Given the description of an element on the screen output the (x, y) to click on. 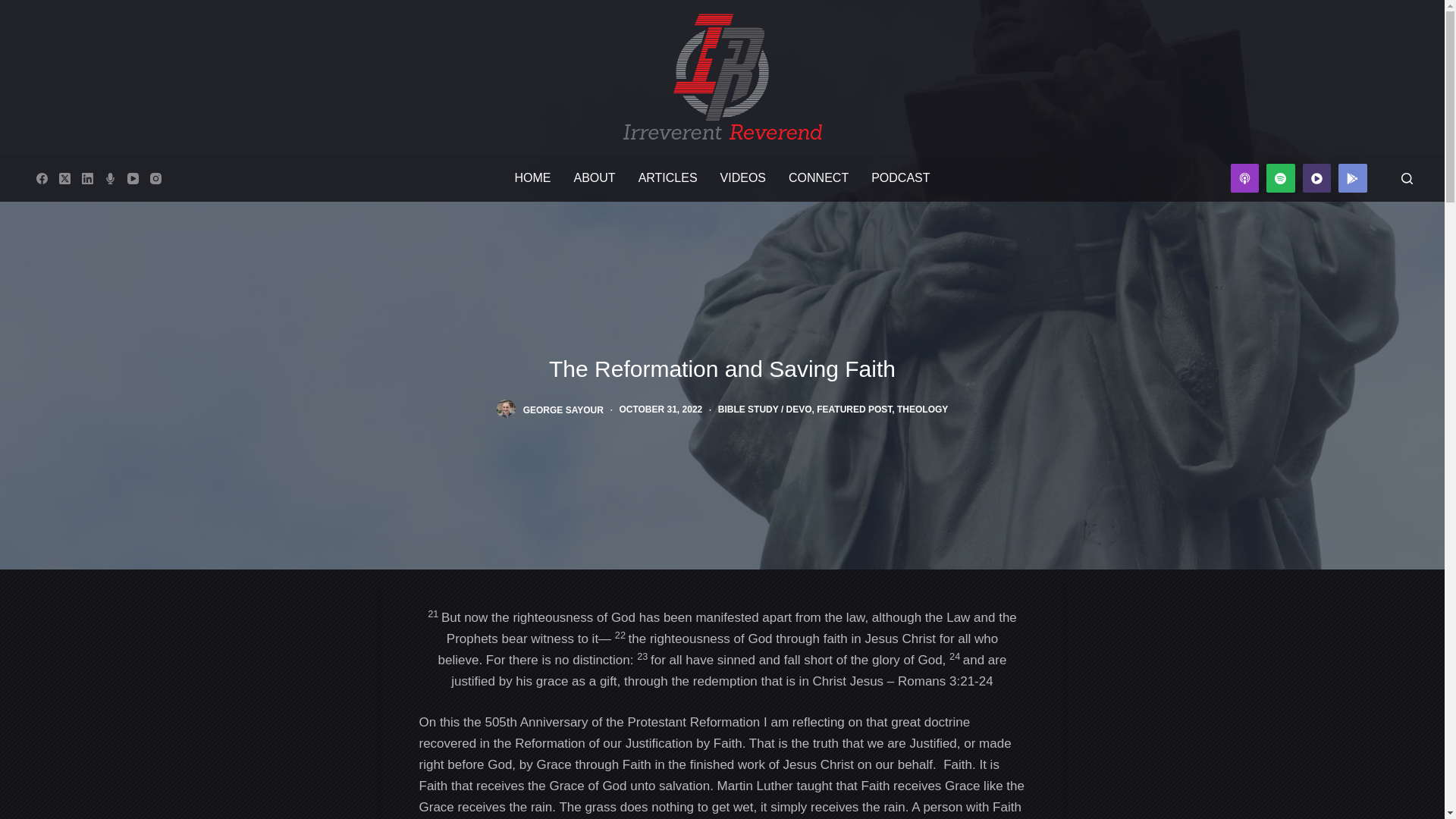
ABOUT (594, 177)
ARTICLES (668, 177)
GEORGE SAYOUR (563, 409)
VIDEOS (743, 177)
PODCAST (900, 177)
Posts by George Sayour (563, 409)
Skip to content (15, 7)
CONNECT (818, 177)
The Reformation and Saving Faith (721, 368)
HOME (532, 177)
